Given the description of an element on the screen output the (x, y) to click on. 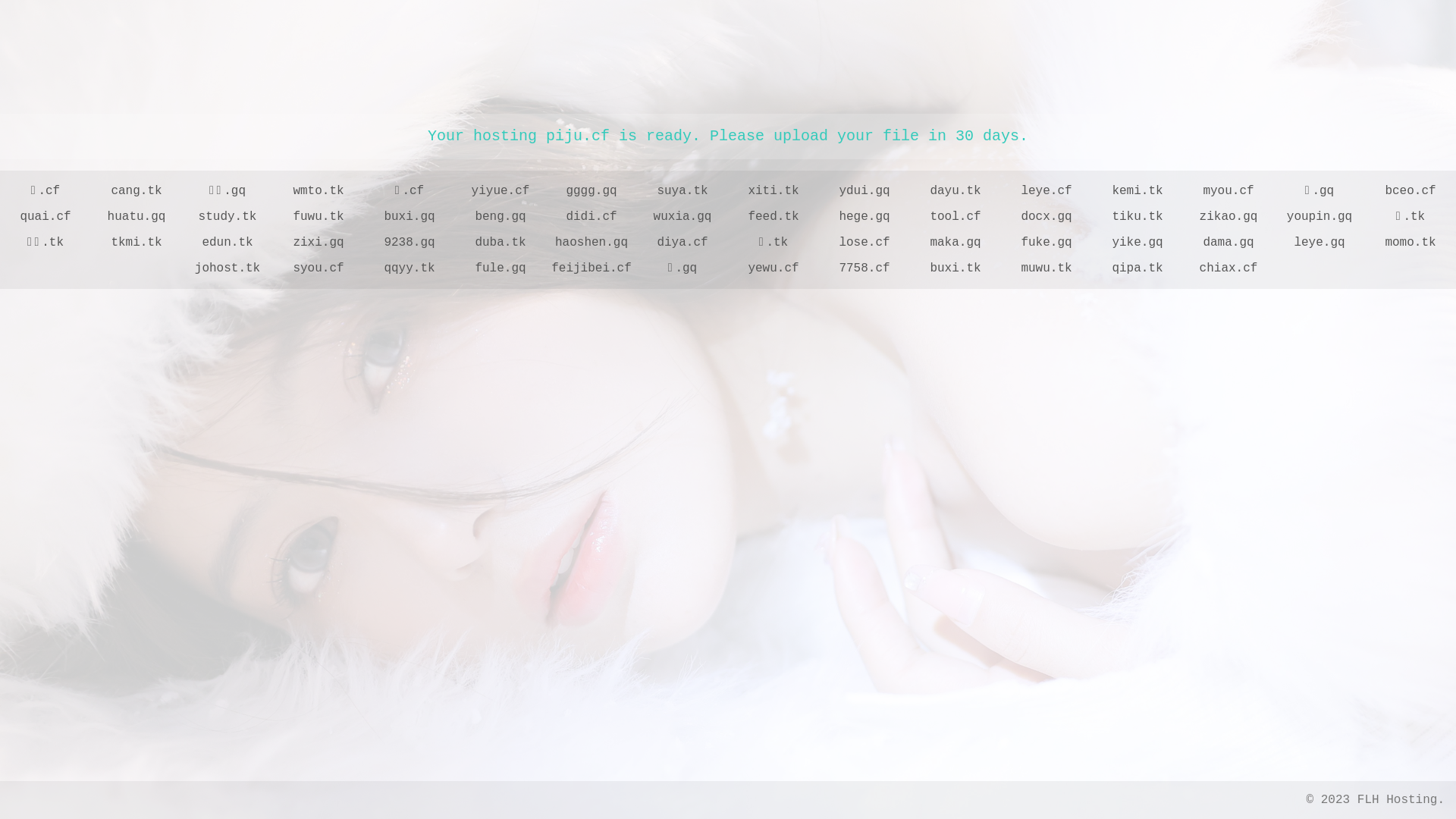
leye.cf Element type: text (1046, 190)
7758.cf Element type: text (864, 268)
fuke.gq Element type: text (1046, 242)
wmto.tk Element type: text (318, 190)
syou.cf Element type: text (318, 268)
beng.gq Element type: text (500, 216)
diya.cf Element type: text (682, 242)
yike.gq Element type: text (1137, 242)
9238.gq Element type: text (409, 242)
docx.gq Element type: text (1046, 216)
youpin.gq Element type: text (1319, 216)
muwu.tk Element type: text (1046, 268)
qqyy.tk Element type: text (409, 268)
cang.tk Element type: text (136, 190)
study.tk Element type: text (227, 216)
ydui.gq Element type: text (864, 190)
feed.tk Element type: text (773, 216)
dama.gq Element type: text (1228, 242)
buxi.gq Element type: text (409, 216)
yiyue.cf Element type: text (500, 190)
dayu.tk Element type: text (955, 190)
didi.cf Element type: text (591, 216)
duba.tk Element type: text (500, 242)
kemi.tk Element type: text (1137, 190)
hege.gq Element type: text (864, 216)
chiax.cf Element type: text (1228, 268)
zixi.gq Element type: text (318, 242)
haoshen.gq Element type: text (591, 242)
buxi.tk Element type: text (955, 268)
lose.cf Element type: text (864, 242)
tool.cf Element type: text (955, 216)
zikao.gq Element type: text (1228, 216)
xiti.tk Element type: text (773, 190)
qipa.tk Element type: text (1137, 268)
tiku.tk Element type: text (1137, 216)
quai.cf Element type: text (45, 216)
gggg.gq Element type: text (591, 190)
johost.tk Element type: text (227, 268)
huatu.gq Element type: text (136, 216)
feijibei.cf Element type: text (591, 268)
wuxia.gq Element type: text (682, 216)
fule.gq Element type: text (500, 268)
leye.gq Element type: text (1319, 242)
yewu.cf Element type: text (773, 268)
edun.tk Element type: text (227, 242)
maka.gq Element type: text (955, 242)
fuwu.tk Element type: text (318, 216)
tkmi.tk Element type: text (136, 242)
myou.cf Element type: text (1228, 190)
suya.tk Element type: text (682, 190)
